Given the description of an element on the screen output the (x, y) to click on. 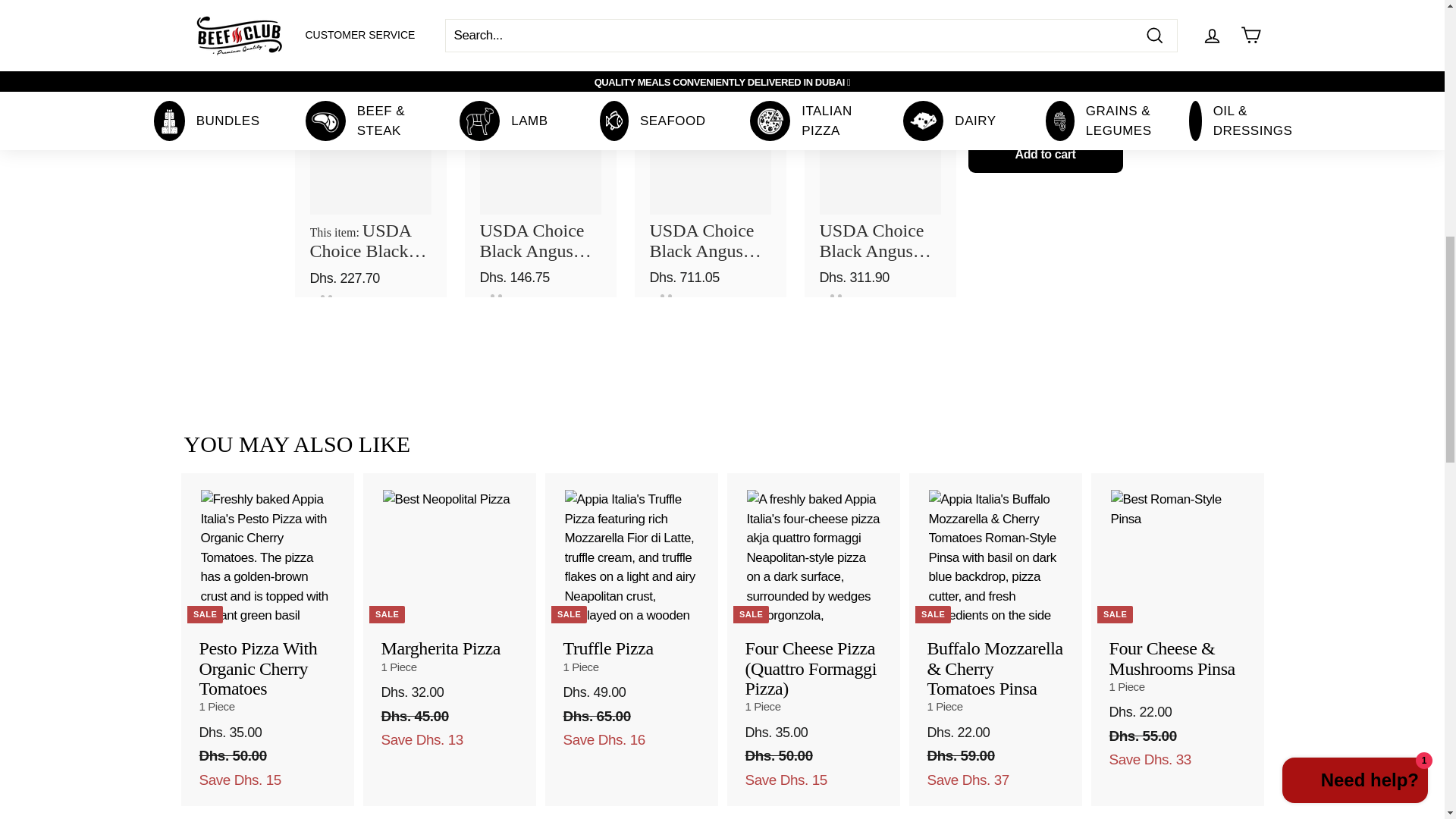
on (919, 109)
on (749, 109)
on (579, 109)
on (409, 109)
